Given the description of an element on the screen output the (x, y) to click on. 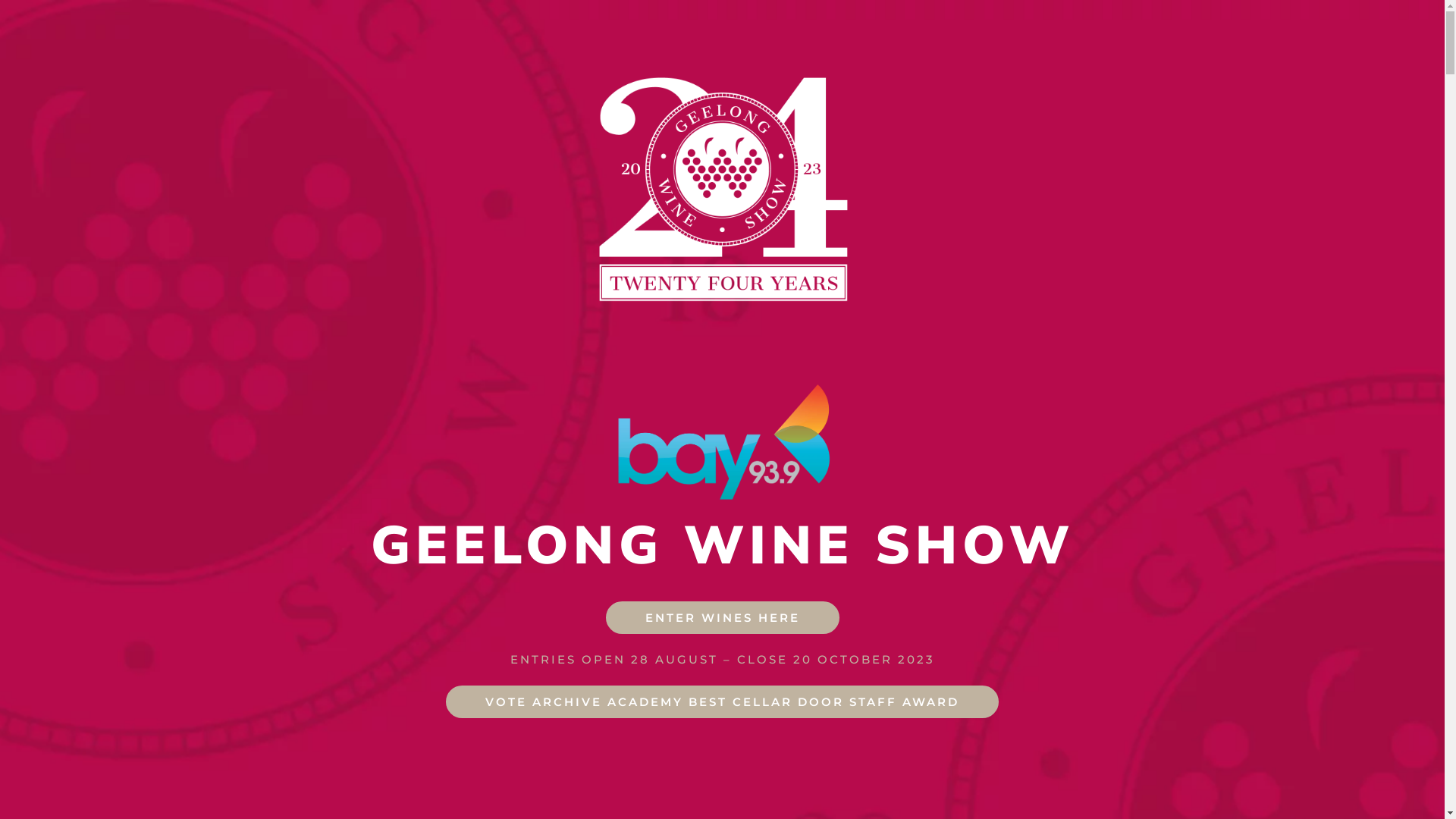
GeelongWineShowLogo2023_White1000 Element type: hover (721, 189)
VOTE ARCHIVE ACADEMY BEST CELLAR DOOR STAFF AWARD Element type: text (721, 701)
ENTER WINES HERE Element type: text (721, 617)
Bay_logo Element type: hover (721, 441)
